Given the description of an element on the screen output the (x, y) to click on. 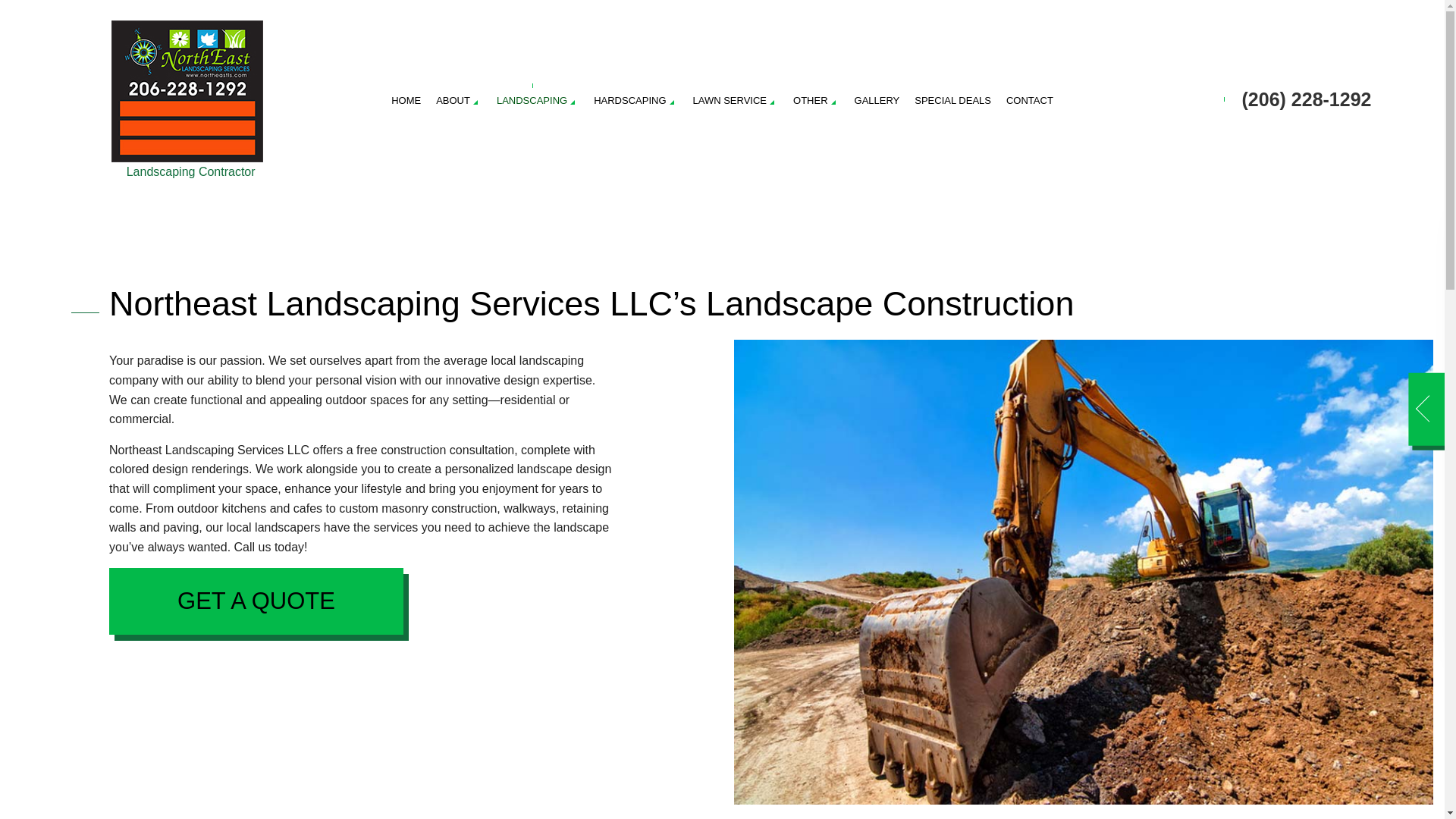
Northeast Landscaping Services LLC (187, 90)
